Given the description of an element on the screen output the (x, y) to click on. 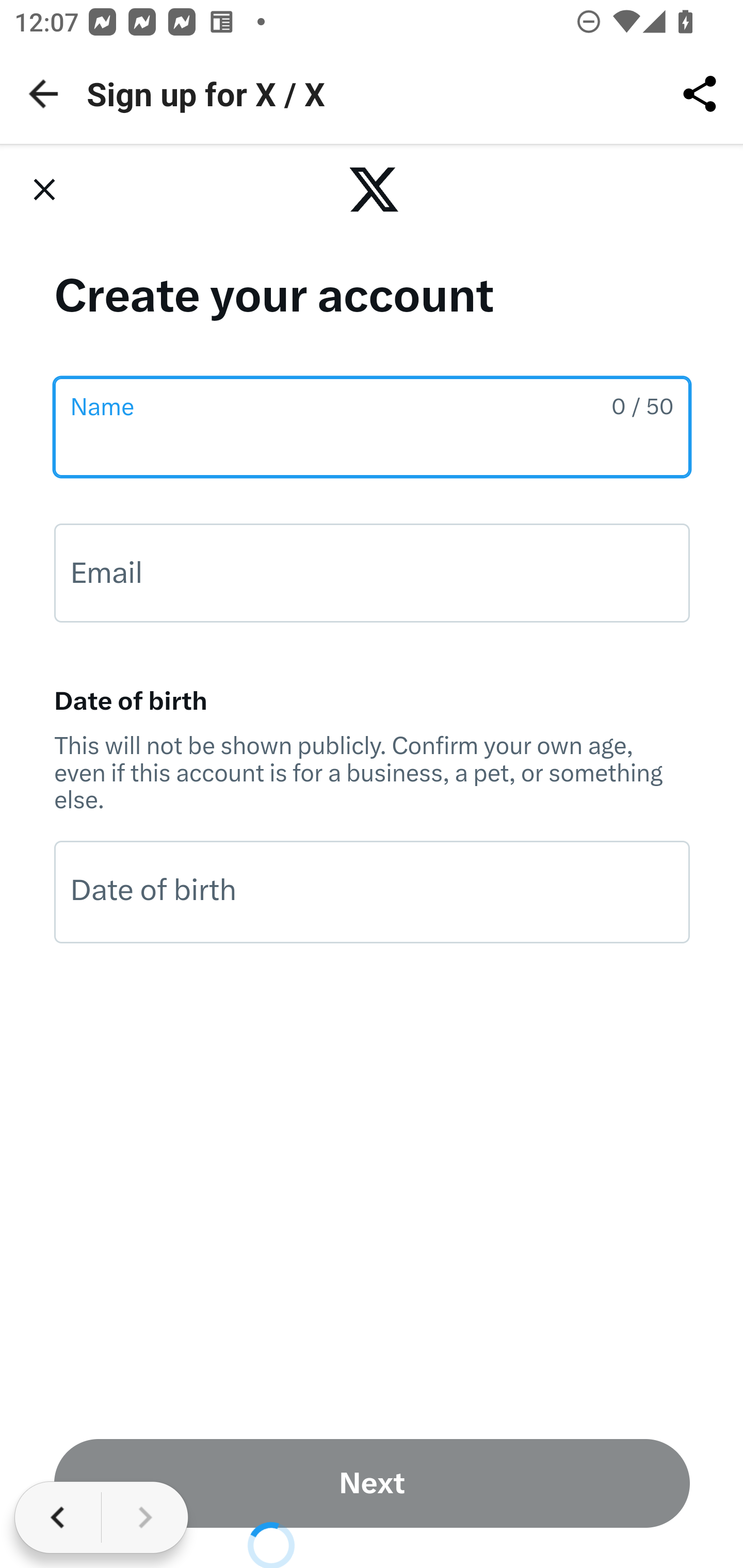
Close (43, 188)
Next (372, 1482)
